Given the description of an element on the screen output the (x, y) to click on. 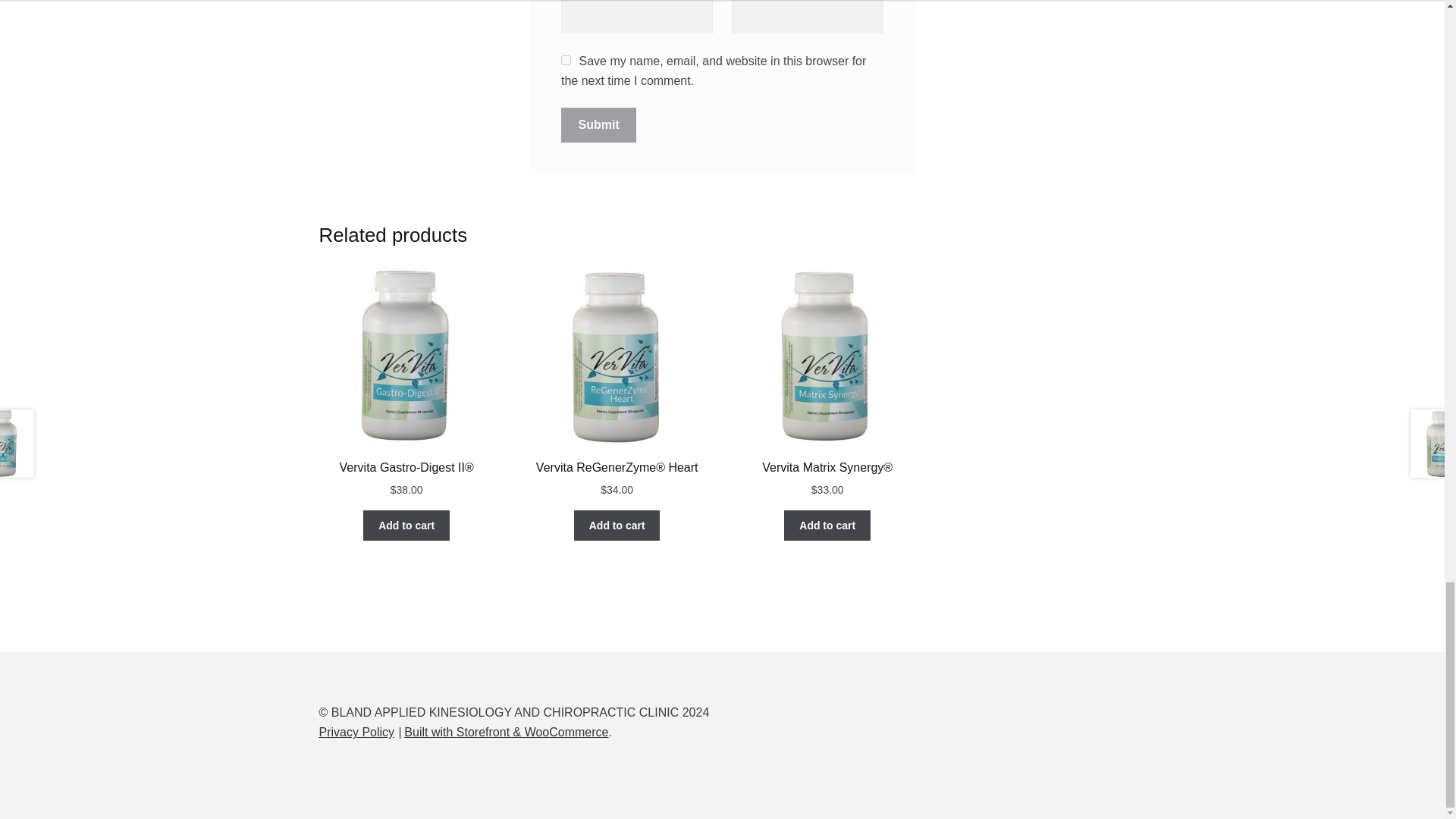
WooCommerce - The Best eCommerce Platform for WordPress (506, 731)
yes (565, 60)
Submit (598, 124)
